Given the description of an element on the screen output the (x, y) to click on. 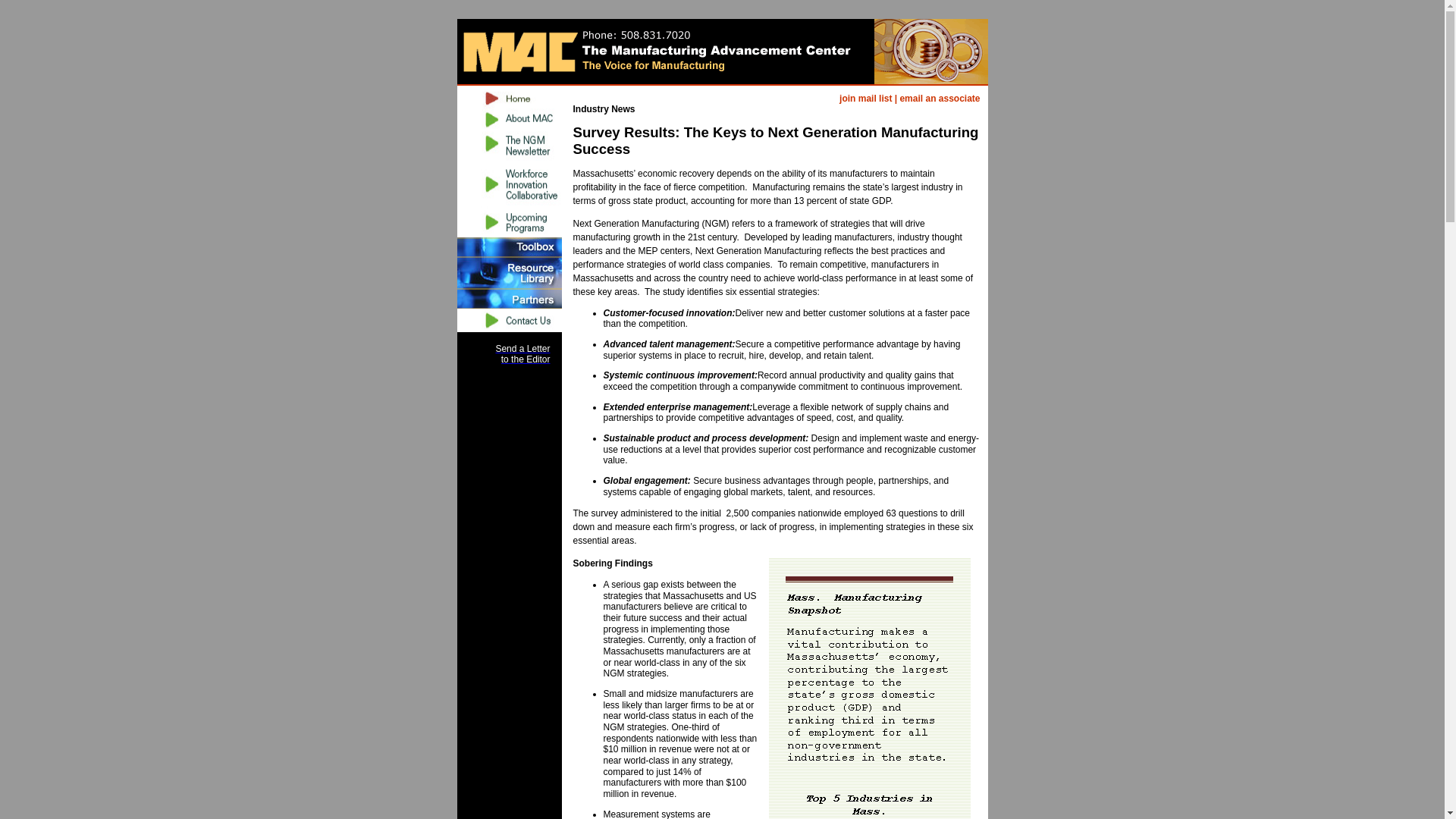
Email and Associate (939, 98)
Manufacturing our Summit (508, 184)
Upcoming Programs (508, 221)
About MAC (508, 119)
Contact Us (522, 354)
Join Mail List (508, 320)
join mail list (865, 98)
Home (865, 98)
email an associate (508, 96)
Partners (939, 98)
Toolbox (508, 298)
Resource Library (508, 246)
The MAC Action Newsline (508, 272)
